Given the description of an element on the screen output the (x, y) to click on. 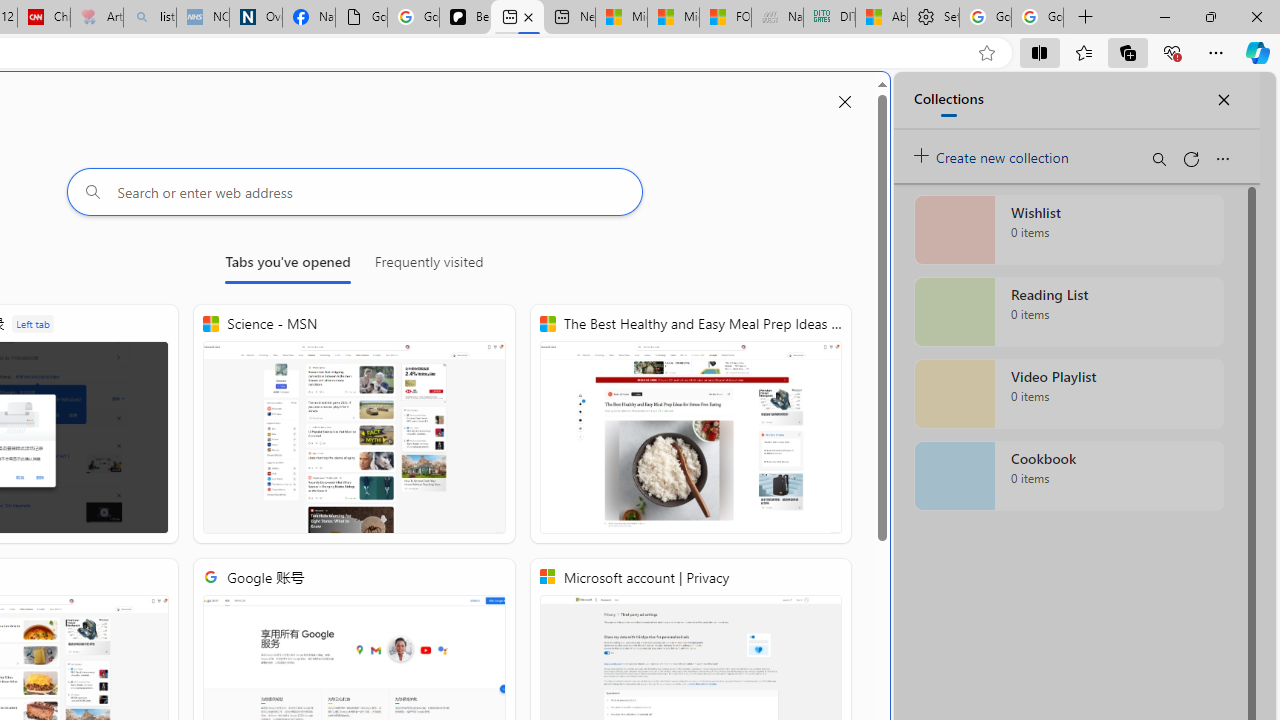
Close split screen (844, 102)
FOX News - MSN (725, 17)
Frequently visited (428, 265)
Tabs you've opened (287, 265)
